Given the description of an element on the screen output the (x, y) to click on. 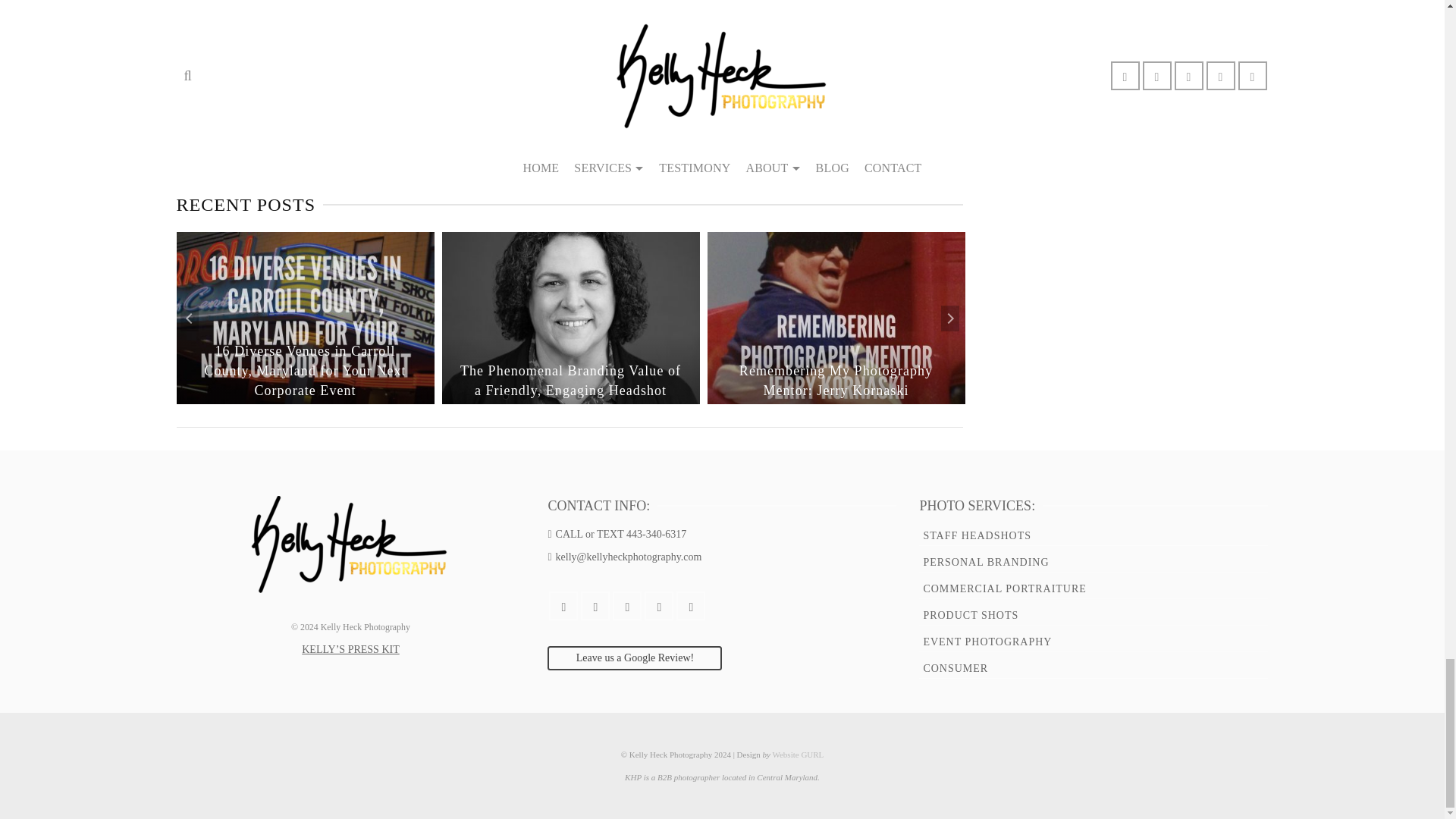
Follow kellyheck on Facebook (274, 102)
Posts by kellyheck (288, 3)
Follow kellyheck on YouTube (310, 102)
Follow kellyheck on Instagram (415, 102)
Follow kellyheck on linkedin (380, 102)
Follow kellyheck on Vimeo (345, 102)
